Given the description of an element on the screen output the (x, y) to click on. 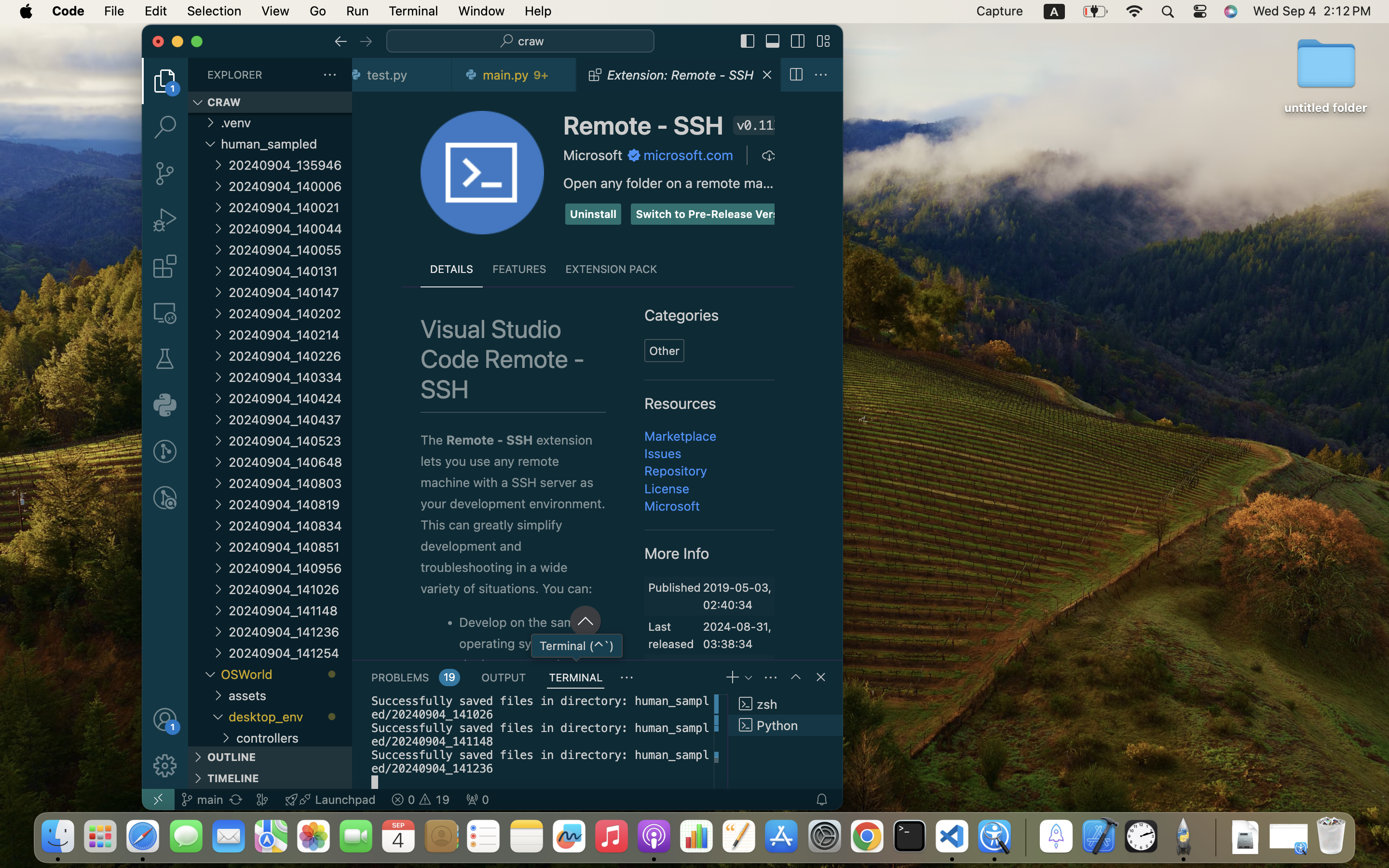
 Element type: AXCheckBox (773, 41)
20240904_140437 Element type: AXGroup (290, 419)
 Element type: AXCheckBox (747, 41)
 Element type: AXStaticText (217, 228)
1 Extension: Remote - SSH   Element type: AXRadioButton (678, 74)
